Given the description of an element on the screen output the (x, y) to click on. 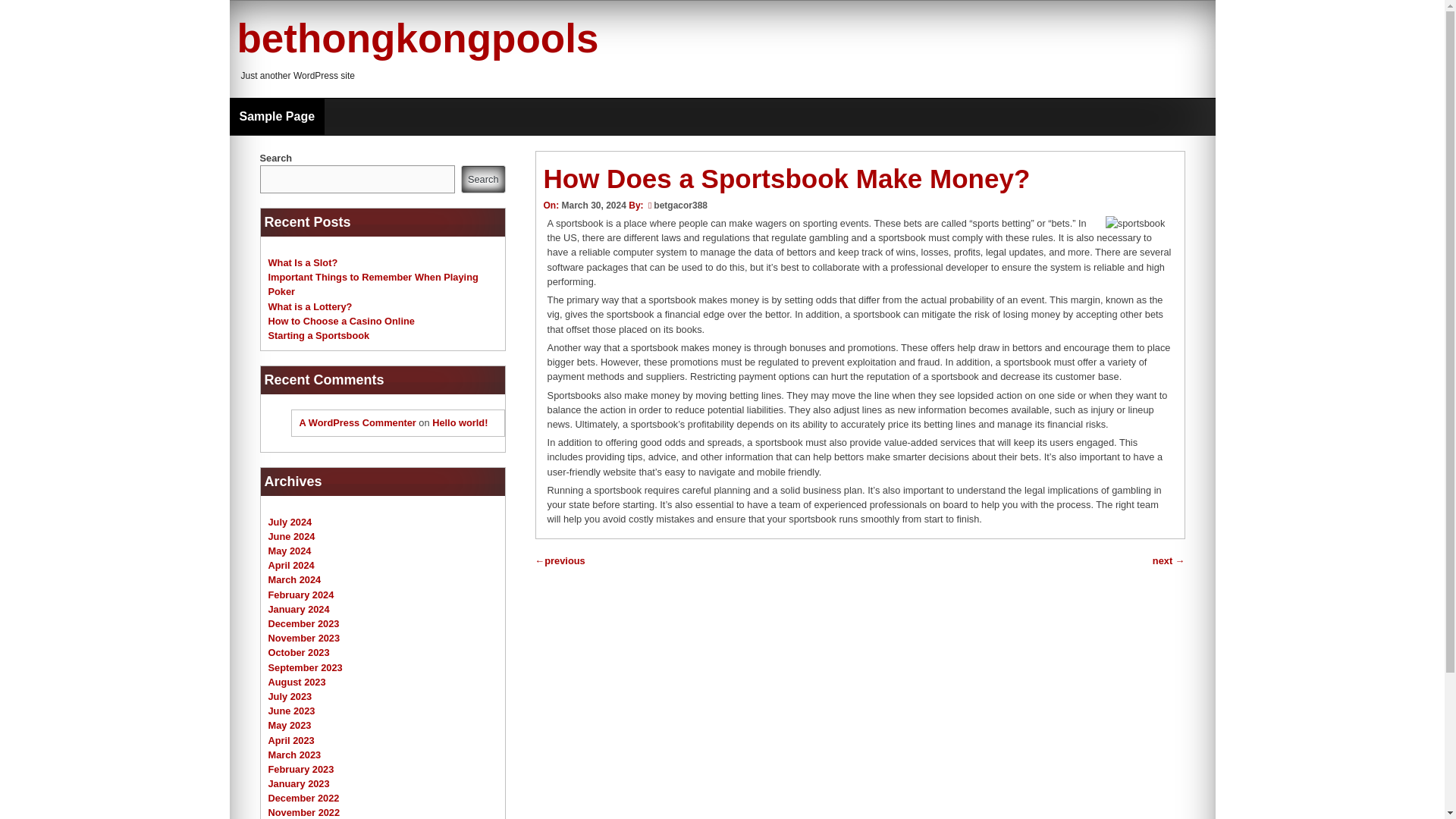
November 2022 (303, 812)
betgacor388 (680, 204)
May 2023 (289, 725)
Important Things to Remember When Playing Poker (373, 284)
March 30, 2024 (593, 204)
Hello world! (459, 422)
January 2023 (298, 783)
Search (483, 179)
Starting a Sportsbook (318, 335)
December 2022 (303, 797)
March 2023 (294, 754)
How to Choose a Casino Online (340, 320)
What Is a Slot? (302, 262)
January 2024 (298, 609)
What is a Lottery? (309, 306)
